Given the description of an element on the screen output the (x, y) to click on. 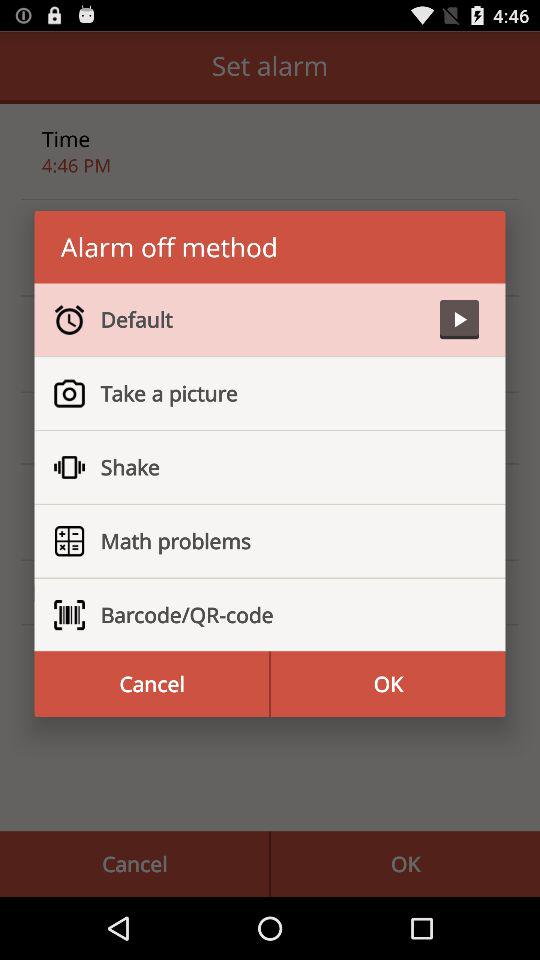
press app above take a picture item (459, 319)
